Given the description of an element on the screen output the (x, y) to click on. 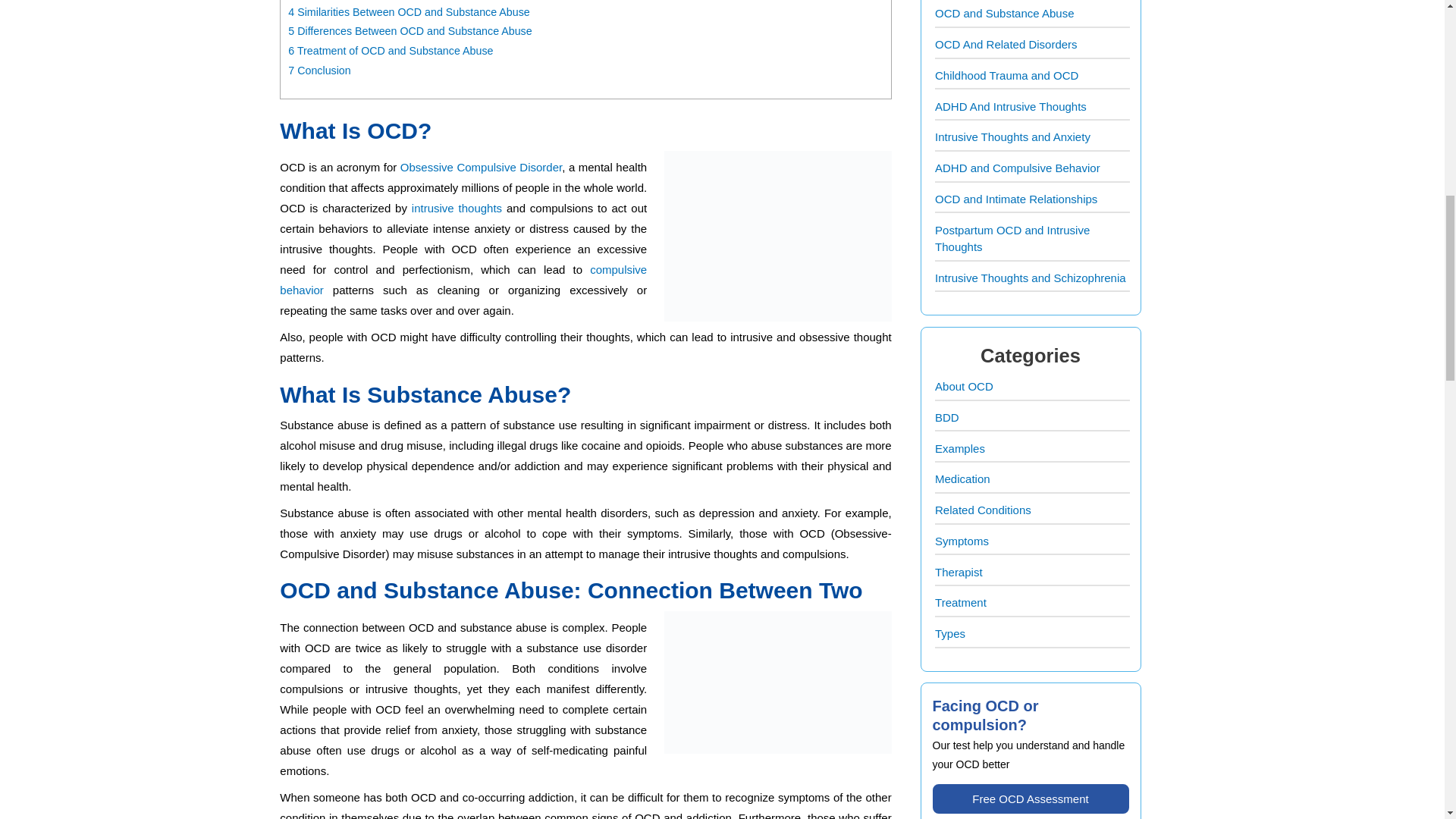
intrusive thoughts (457, 207)
obsessive compulsive disorder (481, 166)
Compulsive Behavior (462, 279)
